Given the description of an element on the screen output the (x, y) to click on. 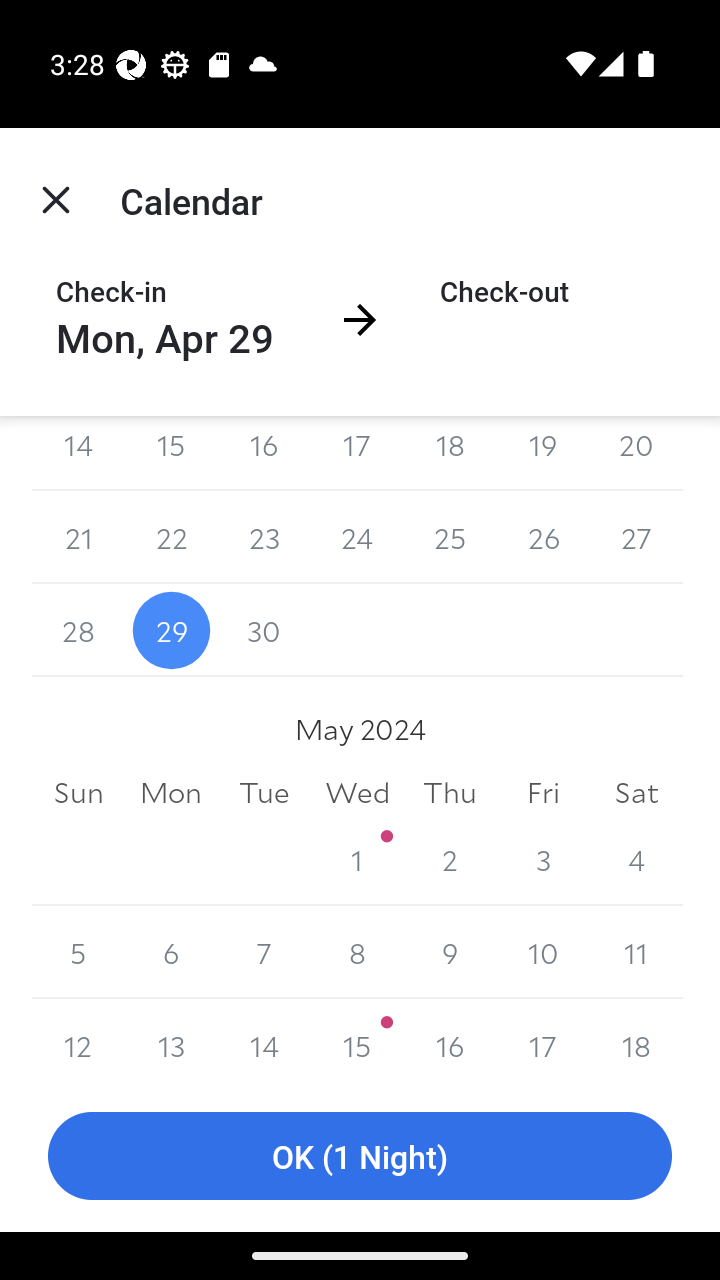
14 14 April 2024 (78, 453)
15 15 April 2024 (171, 453)
16 16 April 2024 (264, 453)
17 17 April 2024 (357, 453)
18 18 April 2024 (449, 453)
19 19 April 2024 (542, 453)
20 20 April 2024 (636, 453)
21 21 April 2024 (78, 537)
22 22 April 2024 (171, 537)
23 23 April 2024 (264, 537)
24 24 April 2024 (357, 537)
25 25 April 2024 (449, 537)
26 26 April 2024 (542, 537)
27 27 April 2024 (636, 537)
28 28 April 2024 (78, 630)
29 29 April 2024 (171, 630)
30 30 April 2024 (264, 630)
Sun (78, 791)
Mon (171, 791)
Tue (264, 791)
Wed (357, 791)
Thu (449, 791)
Fri (542, 791)
Sat (636, 791)
1 1 May 2024 (357, 859)
2 2 May 2024 (449, 859)
3 3 May 2024 (542, 859)
4 4 May 2024 (636, 859)
5 5 May 2024 (78, 952)
6 6 May 2024 (171, 952)
7 7 May 2024 (264, 952)
8 8 May 2024 (357, 952)
9 9 May 2024 (449, 952)
10 10 May 2024 (542, 952)
11 11 May 2024 (636, 952)
12 12 May 2024 (78, 1039)
13 13 May 2024 (171, 1039)
14 14 May 2024 (264, 1039)
15 15 May 2024 (357, 1039)
16 16 May 2024 (449, 1039)
17 17 May 2024 (542, 1039)
18 18 May 2024 (636, 1039)
OK (1 Night) (359, 1156)
